Given the description of an element on the screen output the (x, y) to click on. 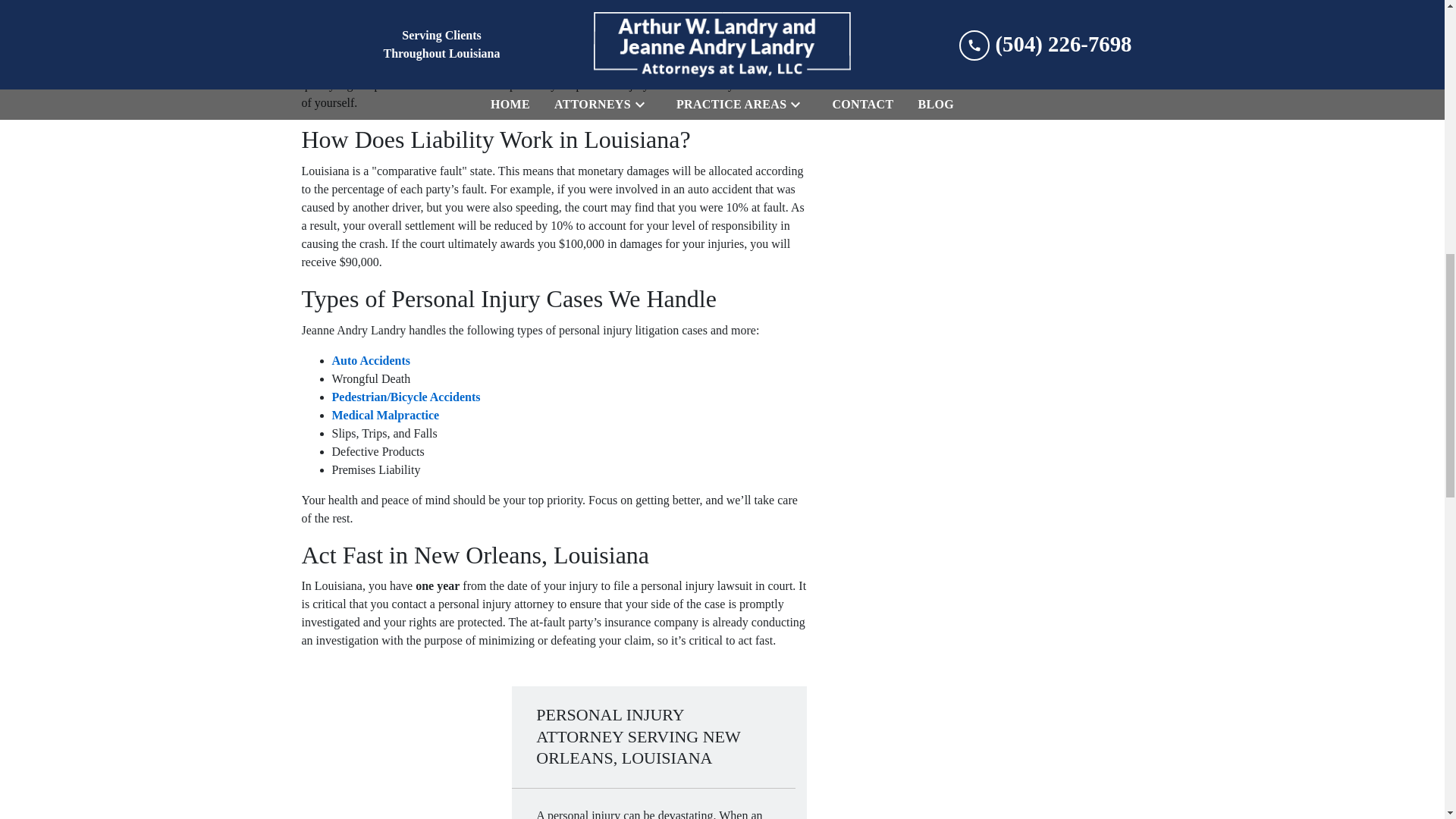
Medical Malpractice (385, 414)
Auto Accidents (370, 359)
